Given the description of an element on the screen output the (x, y) to click on. 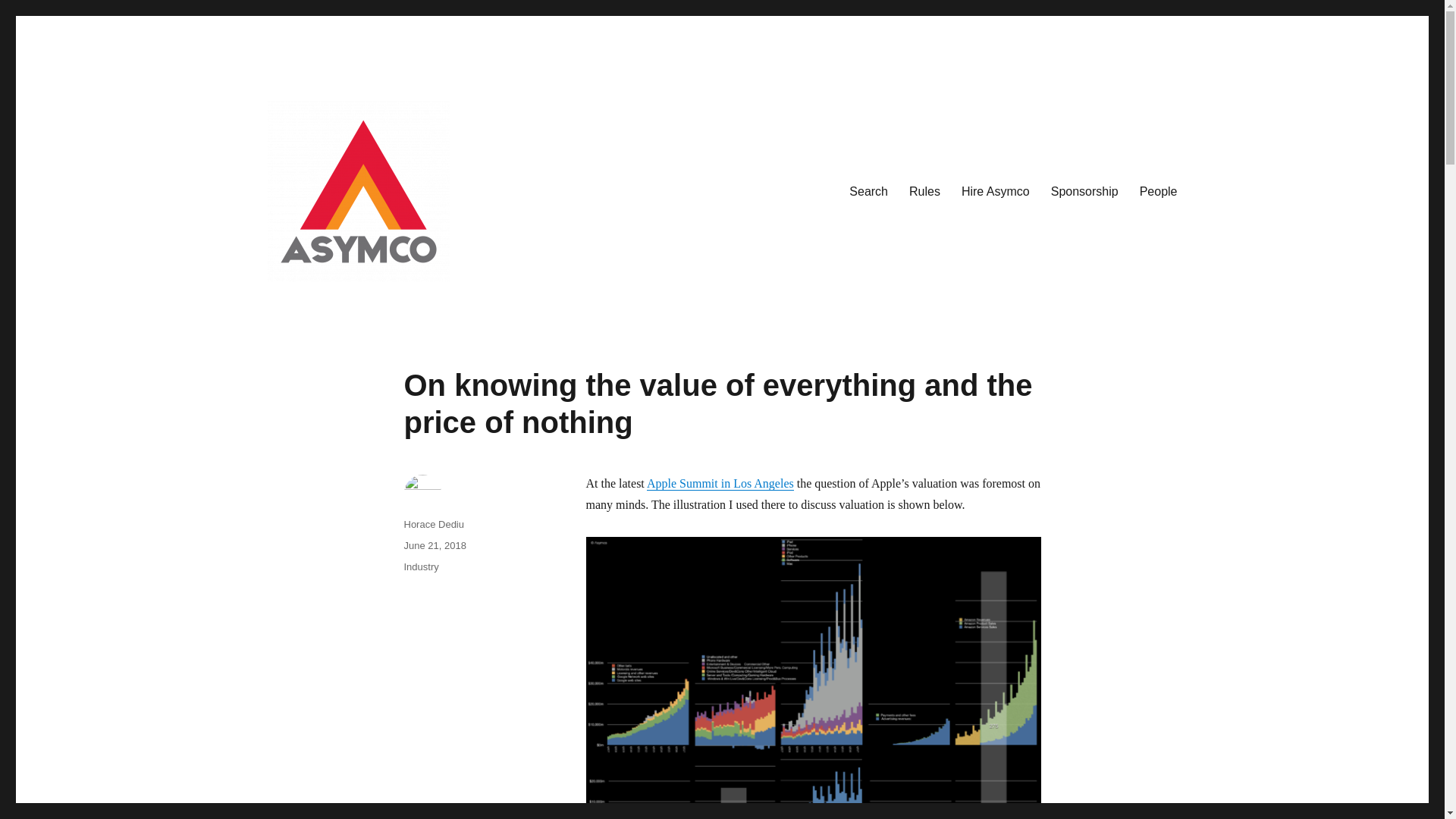
Hire Asymco (995, 192)
Asymco (307, 305)
People (1158, 192)
Horace Dediu (433, 523)
Search (868, 192)
Apple Summit in Los Angeles (719, 482)
Search (868, 192)
Rules (924, 192)
June 21, 2018 (434, 545)
Sponsorship (1085, 192)
Industry (420, 566)
